Given the description of an element on the screen output the (x, y) to click on. 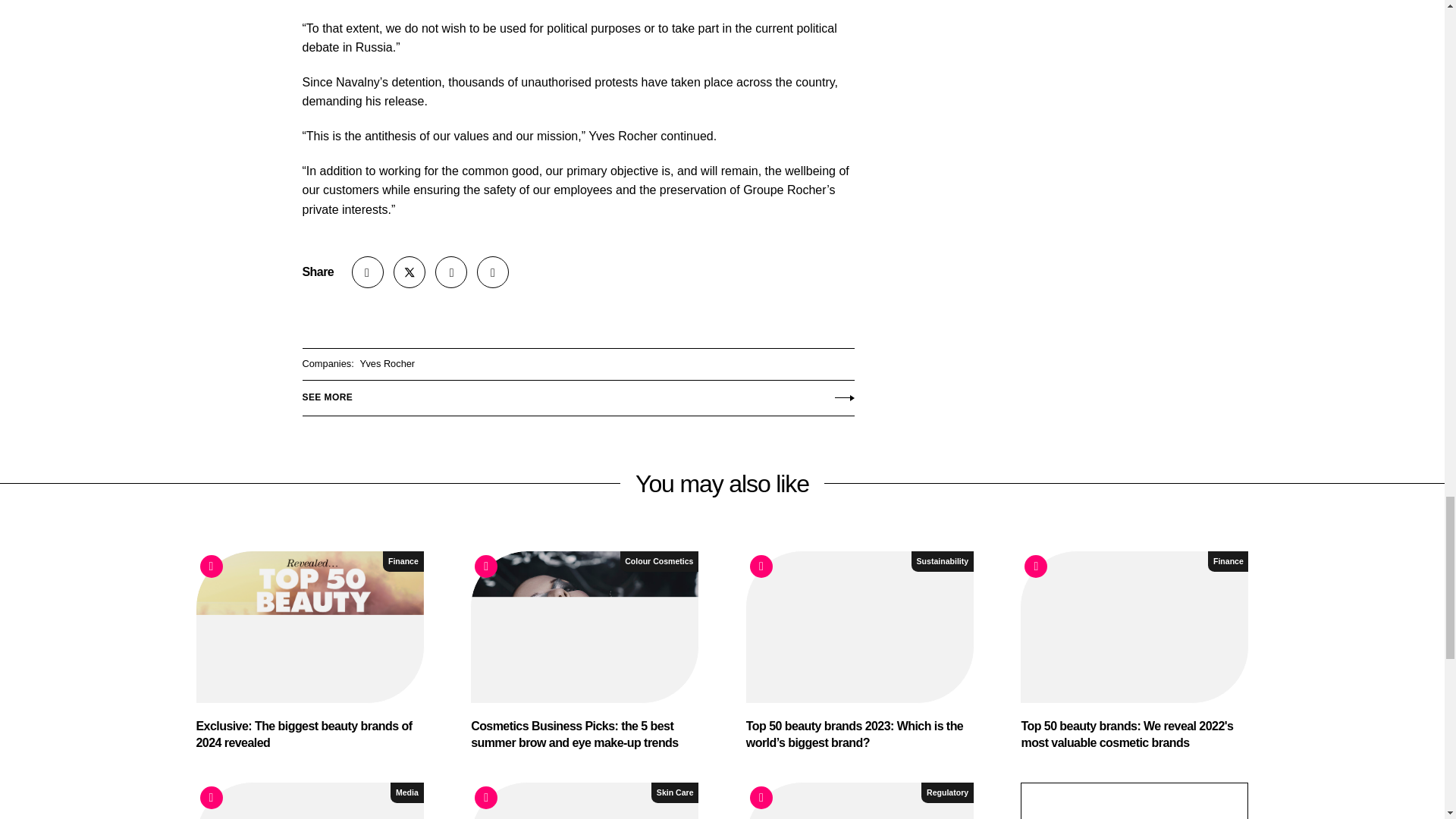
Follow Cosmetics Business on LinkedIn (451, 272)
Share this article (368, 272)
Follow Cosmetics Business on X (409, 272)
